Given the description of an element on the screen output the (x, y) to click on. 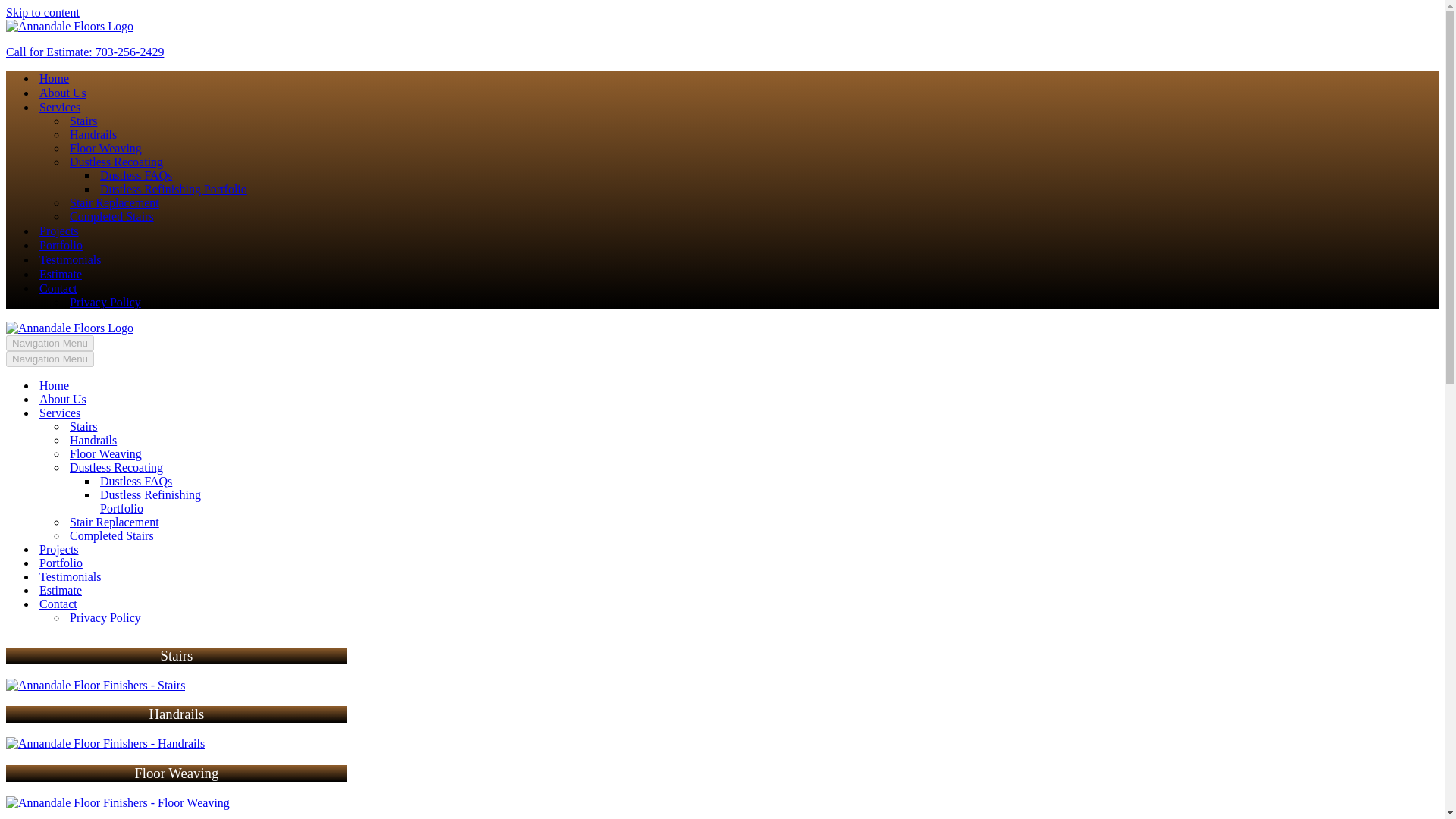
About Us (157, 399)
Stair Replacement (113, 202)
Testimonials (70, 259)
Projects (157, 549)
Testimonials (157, 576)
Navigation Menu (49, 342)
Contact (58, 288)
Handrails (172, 440)
Services (59, 106)
Stairs (94, 685)
Dustless Recoating (116, 161)
About Us (62, 92)
Dustless FAQs (188, 481)
Completed Stairs (111, 216)
Navigation Menu (49, 358)
